Given the description of an element on the screen output the (x, y) to click on. 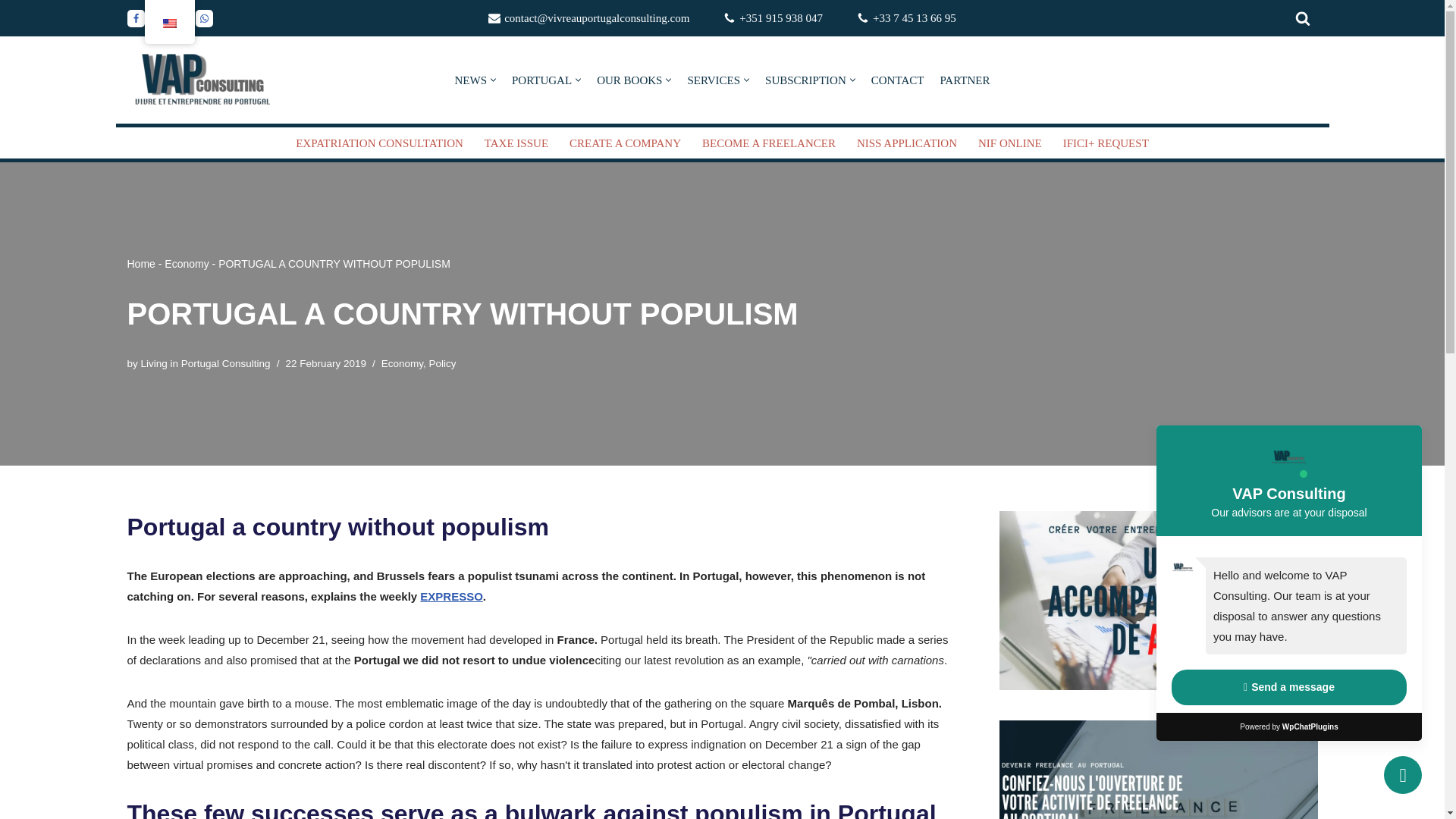
Aller au contenu (11, 31)
PORTUGAL (542, 79)
NEWS (470, 79)
Whatsapp (203, 17)
SERVICES (713, 79)
English (168, 22)
Facebook (136, 17)
Linkedin (158, 17)
Instagram (181, 17)
Posts by Vivre au Portugal Consulting (205, 363)
